Given the description of an element on the screen output the (x, y) to click on. 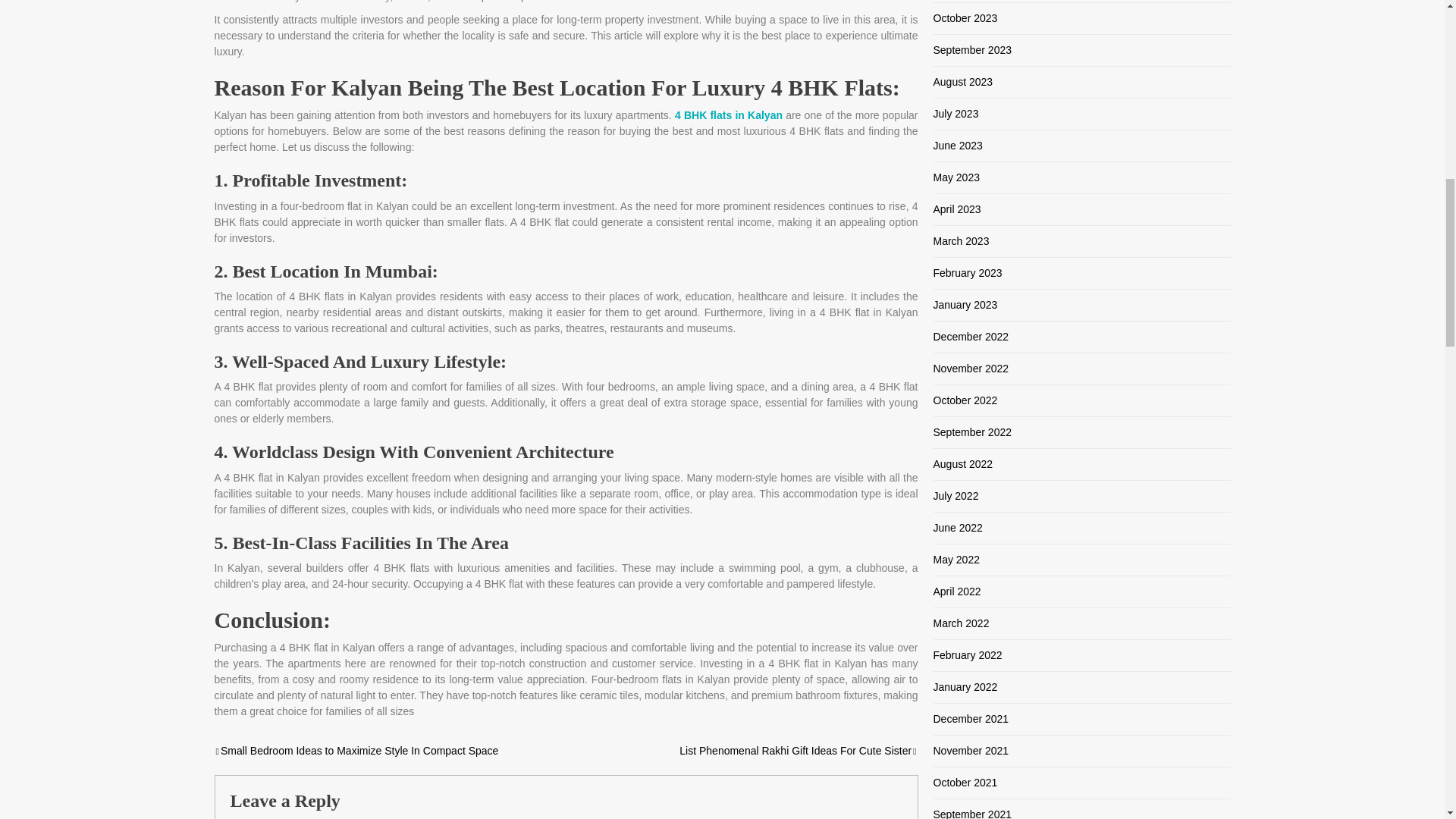
List Phenomenal Rakhi Gift Ideas For Cute Sister (798, 750)
4 BHK flats in Kalyan (729, 114)
Small Bedroom Ideas to Maximize Style In Compact Space (355, 750)
